Given the description of an element on the screen output the (x, y) to click on. 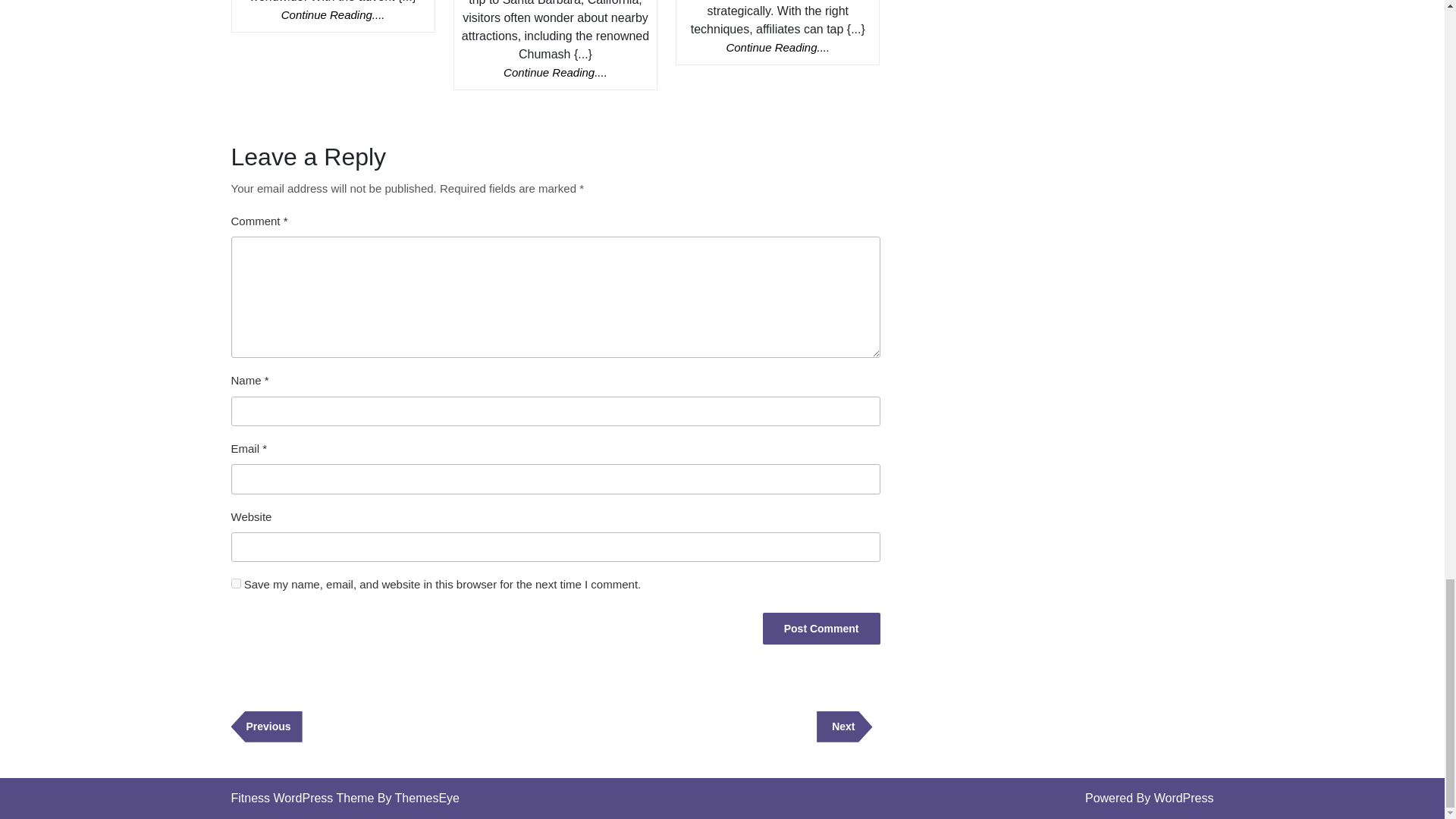
Post Comment (555, 72)
yes (265, 726)
Post Comment (844, 726)
